Given the description of an element on the screen output the (x, y) to click on. 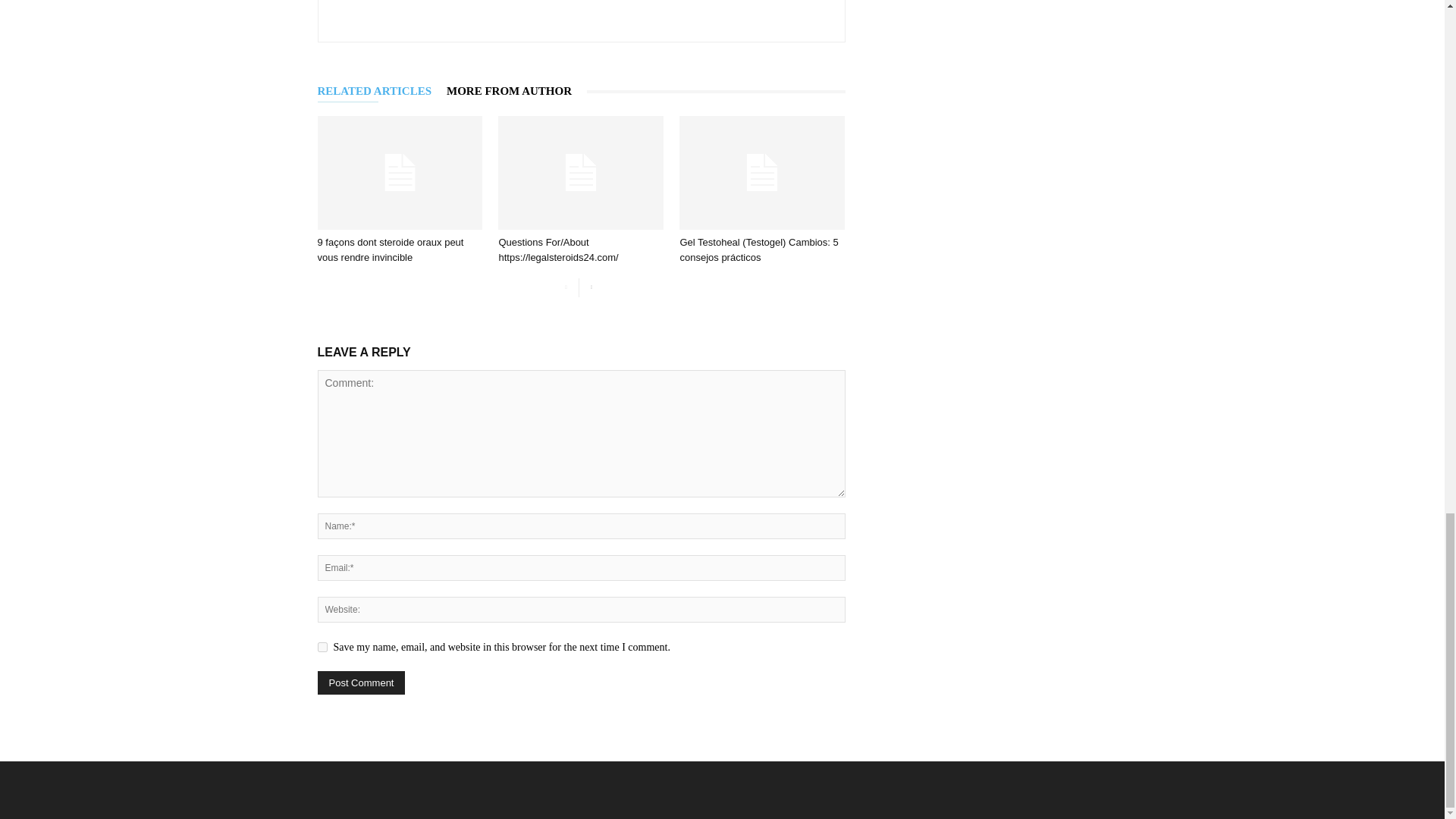
Post Comment (360, 682)
yes (321, 646)
MORE FROM AUTHOR (516, 91)
RELATED ARTICLES (381, 91)
